Given the description of an element on the screen output the (x, y) to click on. 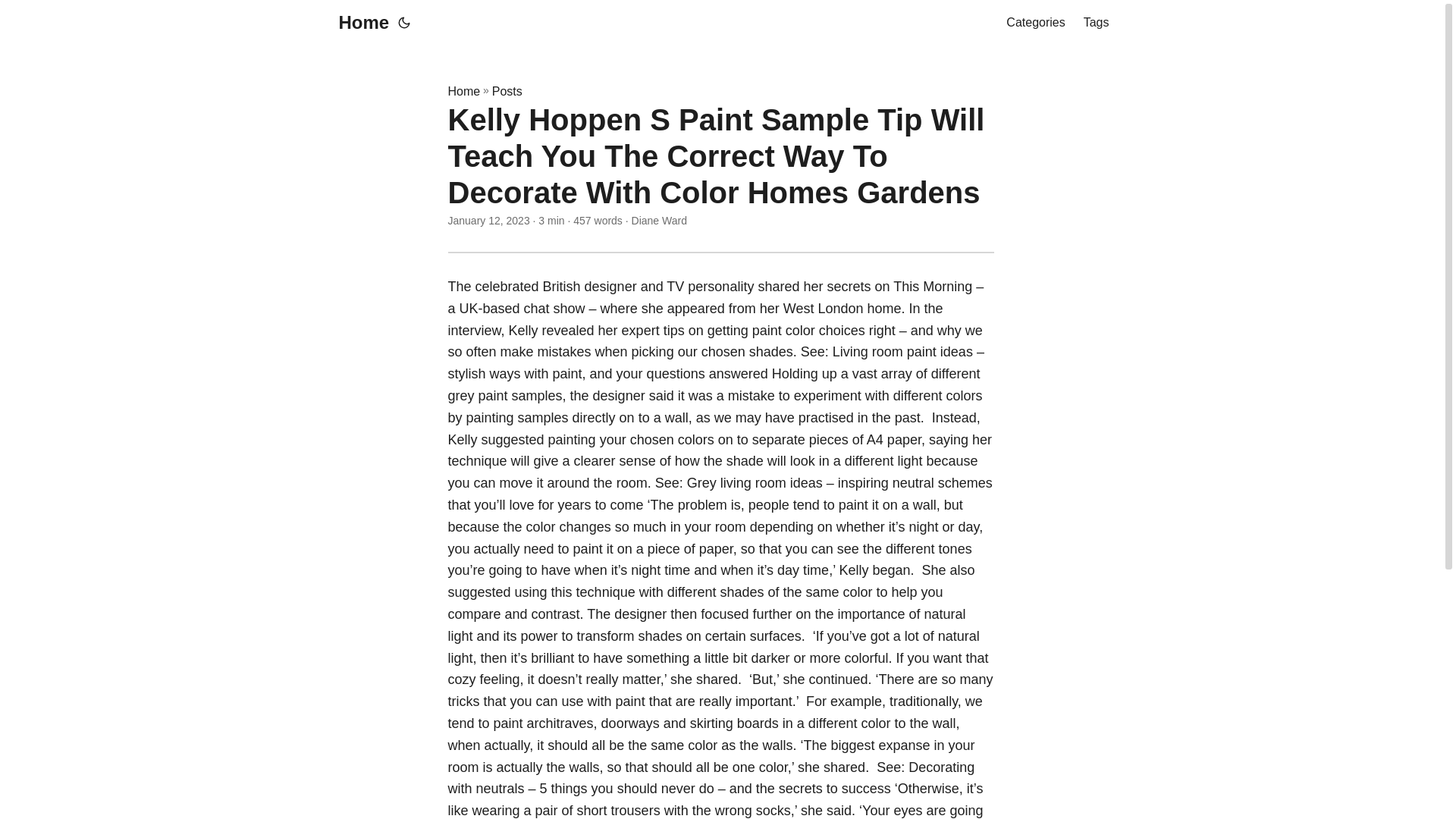
Home (463, 91)
Posts (507, 91)
Categories (1035, 22)
Categories (1035, 22)
Home (359, 22)
